Given the description of an element on the screen output the (x, y) to click on. 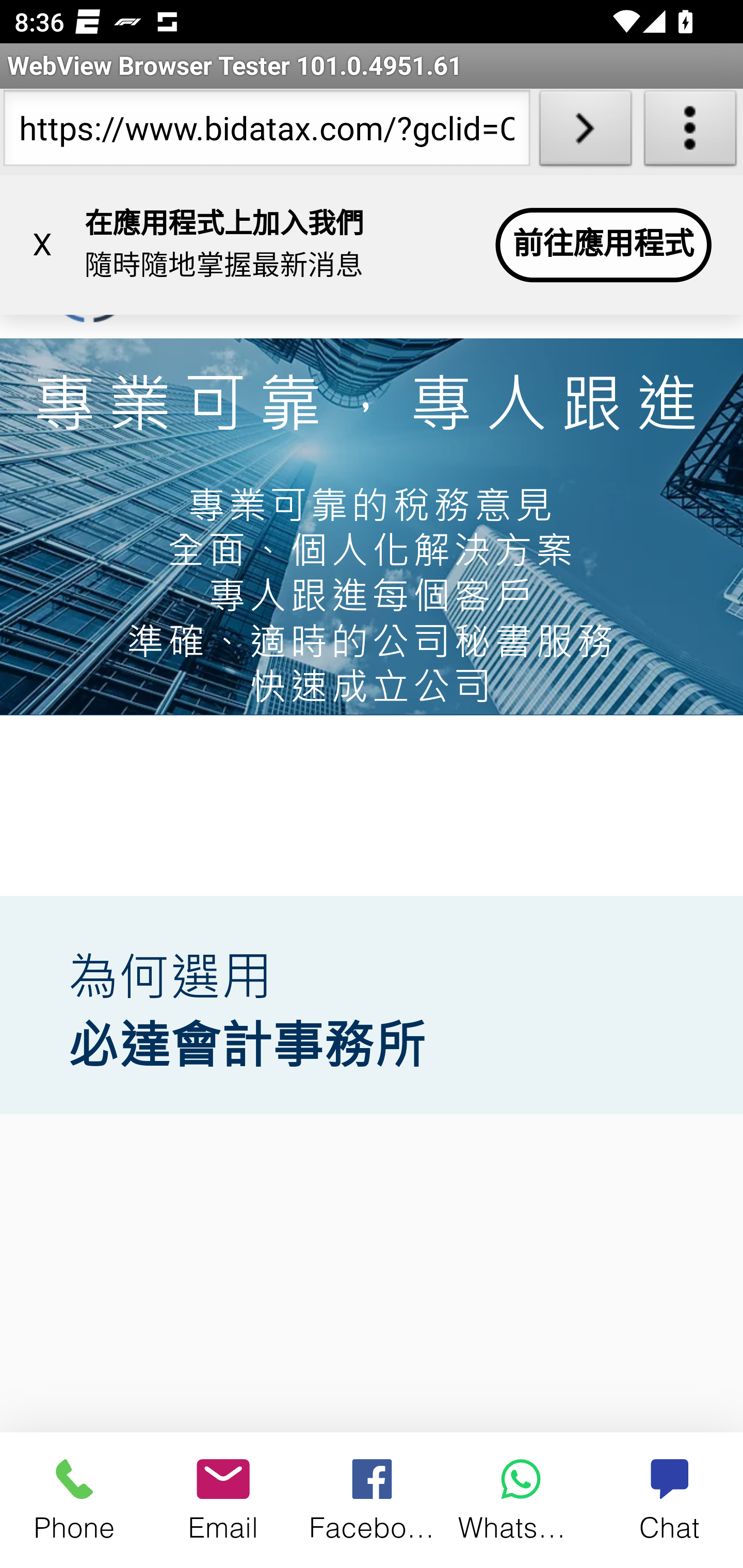
Load URL (585, 132)
About WebView (690, 132)
X 在應用程式上加入我們
隨時隨地掌握最新消息 前往應用程式 (371, 245)
X (42, 245)
Phone (74, 1499)
Email (222, 1499)
Facebook (372, 1499)
WhatsApp (520, 1499)
Chat (669, 1499)
